Given the description of an element on the screen output the (x, y) to click on. 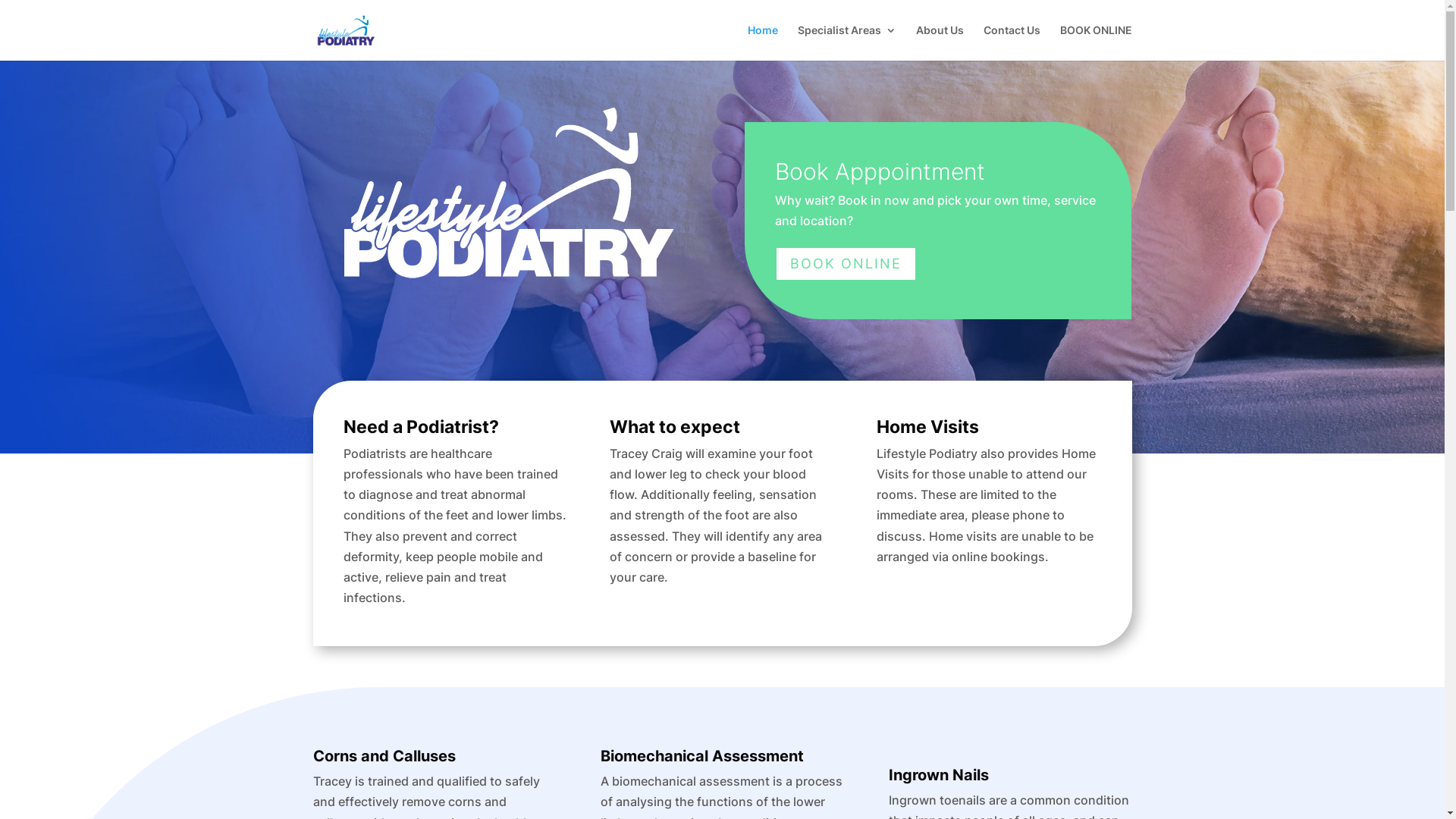
About Us Element type: text (939, 42)
Contact Us Element type: text (1010, 42)
BOOK ONLINE Element type: text (845, 263)
Specialist Areas Element type: text (846, 42)
Home Element type: text (762, 42)
BOOK ONLINE Element type: text (1096, 42)
lifestyle-podiatry-updated Element type: hover (506, 189)
